Given the description of an element on the screen output the (x, y) to click on. 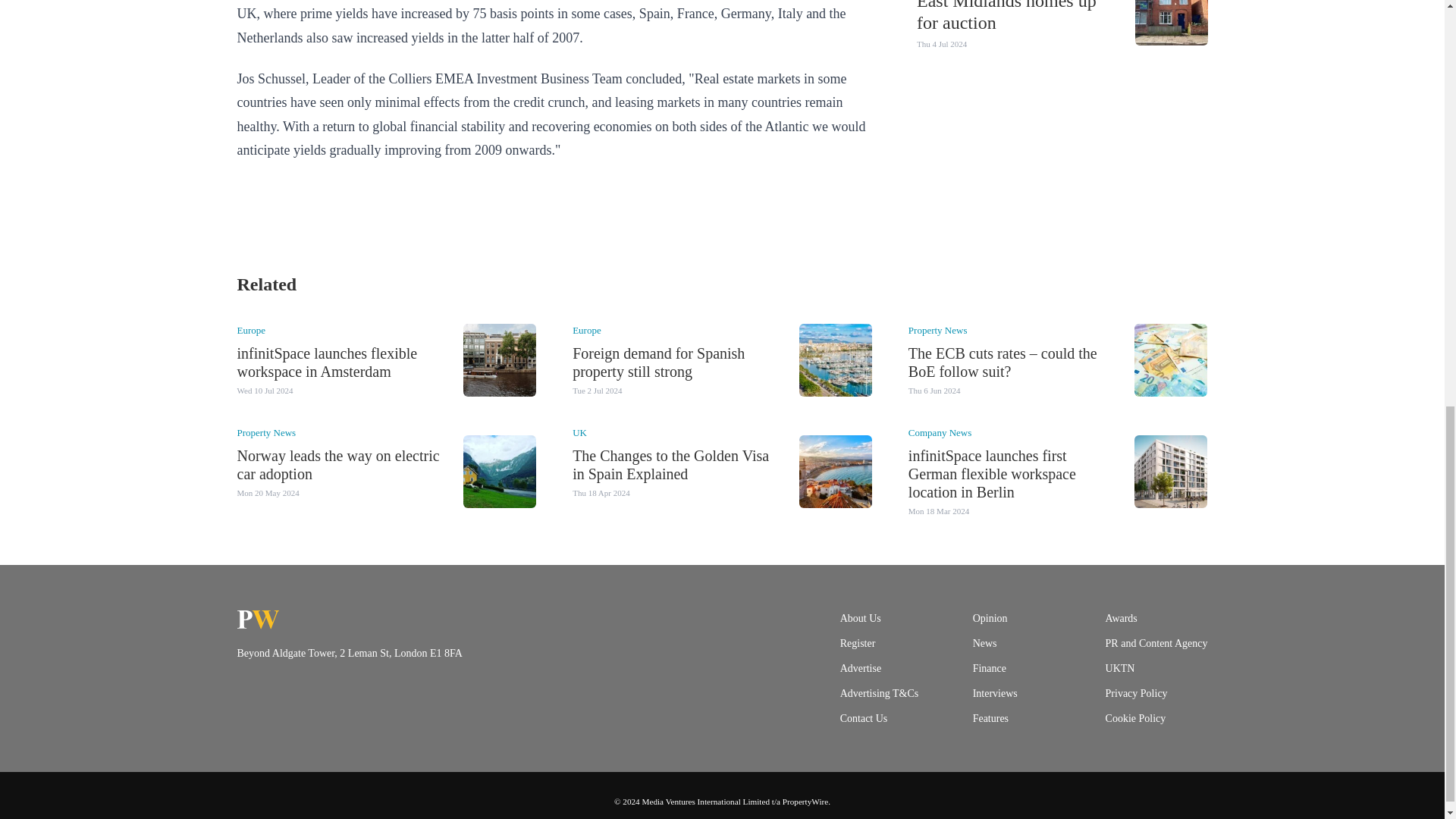
East Midlands homes up for auction (1005, 16)
infinitSpace launches flexible workspace in Amsterdam (325, 362)
Property News (938, 329)
Europe (586, 329)
Europe (249, 329)
Foreign demand for Spanish property still strong (658, 362)
